Given the description of an element on the screen output the (x, y) to click on. 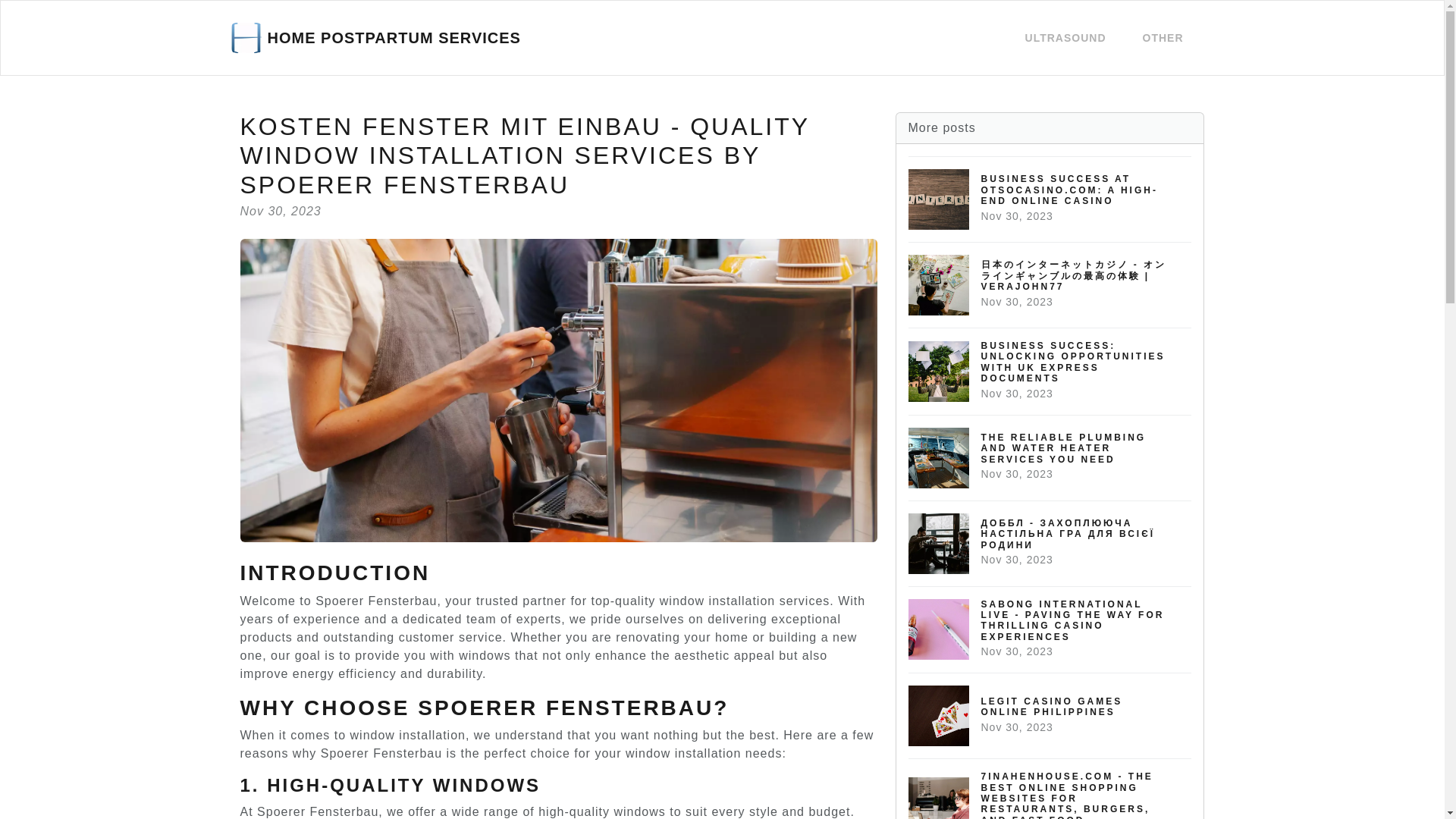
ULTRASOUND (1050, 715)
HOME POSTPARTUM SERVICES (1065, 37)
OTHER (374, 37)
